Given the description of an element on the screen output the (x, y) to click on. 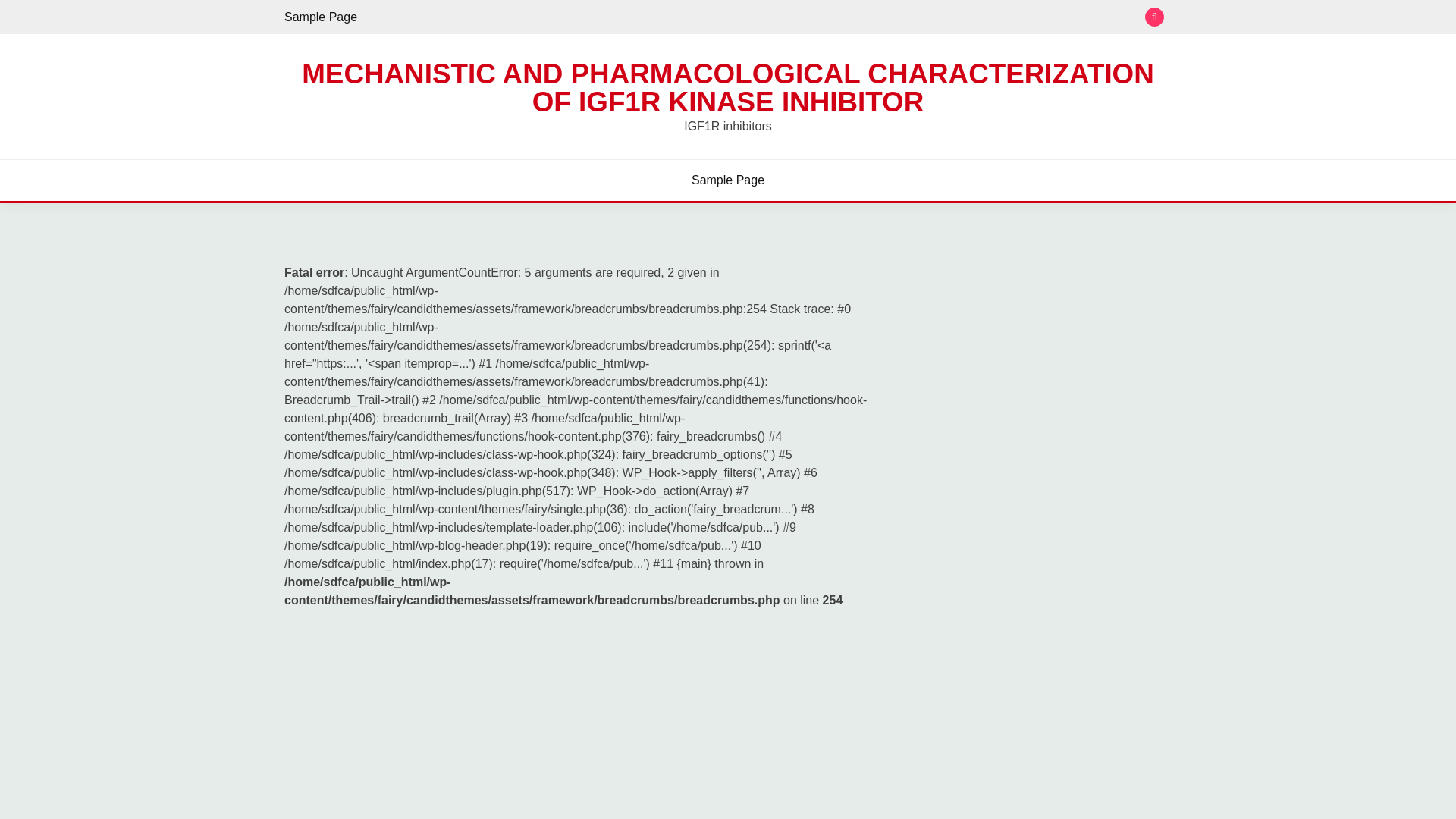
Search (839, 18)
Sample Page (727, 180)
Sample Page (319, 16)
